Given the description of an element on the screen output the (x, y) to click on. 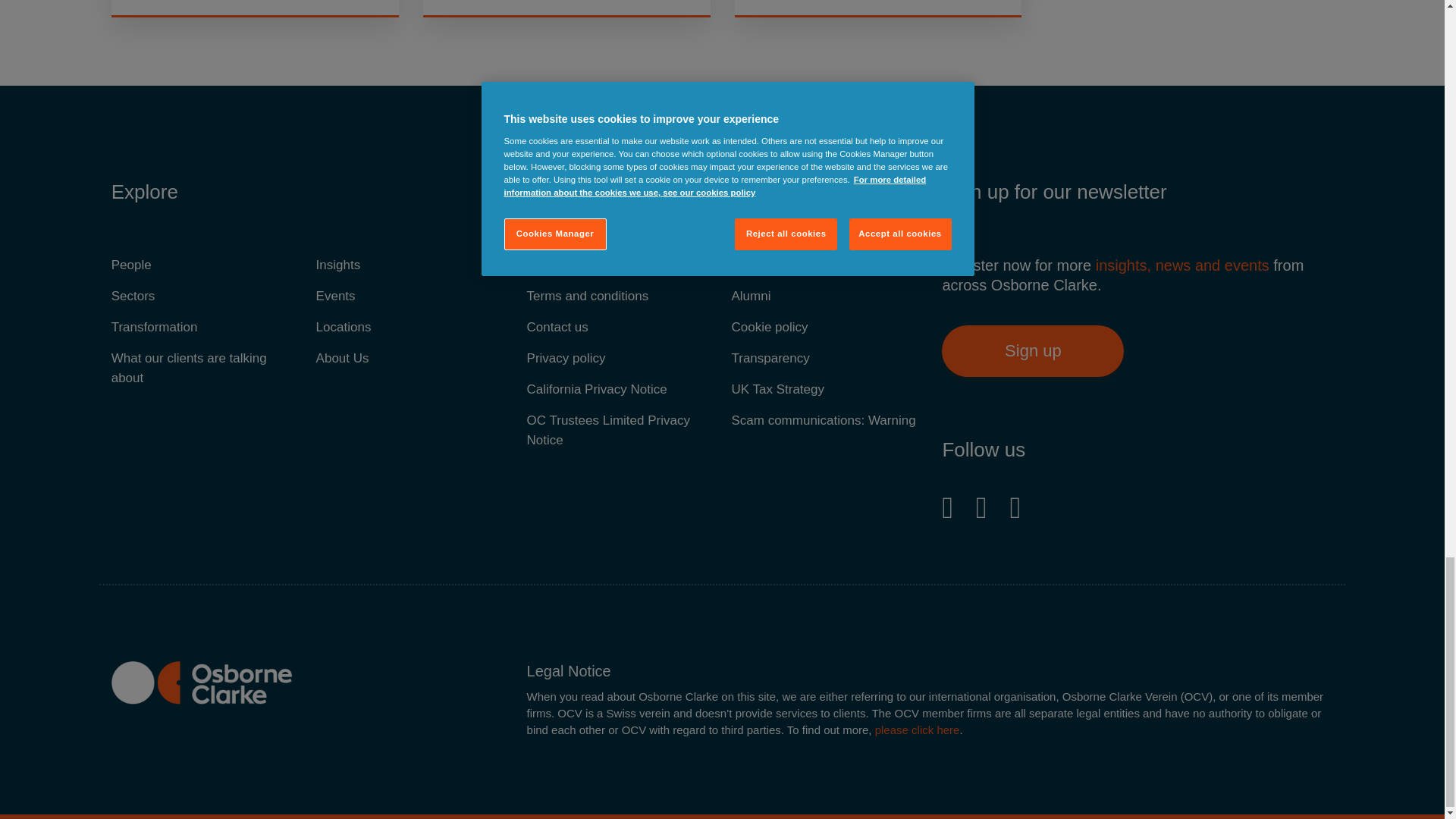
Osborne Clarke (202, 682)
